Given the description of an element on the screen output the (x, y) to click on. 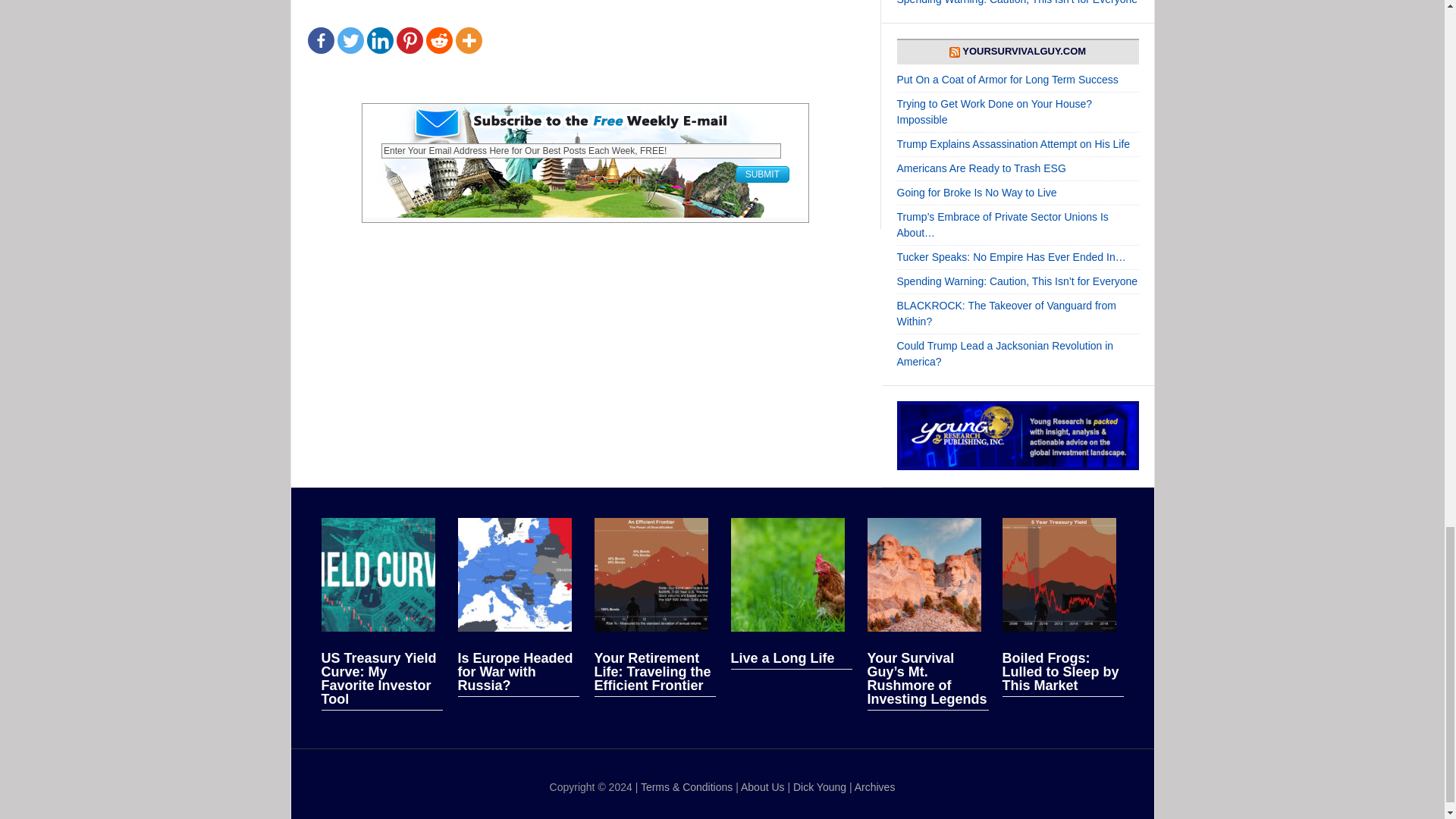
Pinterest (409, 40)
Facebook (320, 40)
Linkedin (379, 40)
More (467, 40)
Submit (762, 174)
Twitter (349, 40)
Reddit (439, 40)
